Given the description of an element on the screen output the (x, y) to click on. 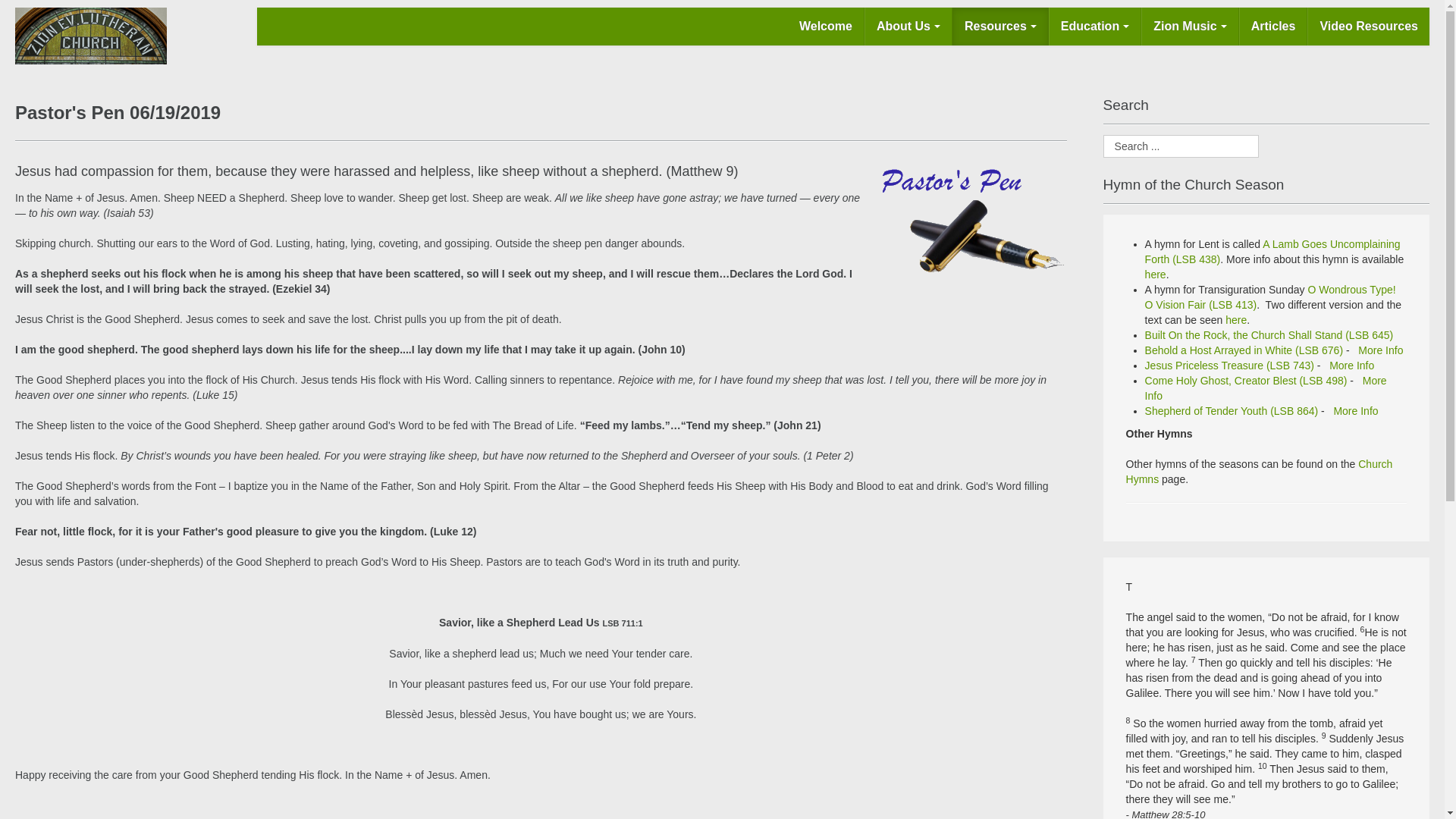
Education (1094, 26)
Video Resources (1368, 26)
Search ... (1181, 146)
here (1155, 274)
Articles (1273, 26)
Zion Music (1190, 26)
Resources (1000, 26)
About Us (908, 26)
Search ... (1181, 146)
Welcome (825, 26)
